Given the description of an element on the screen output the (x, y) to click on. 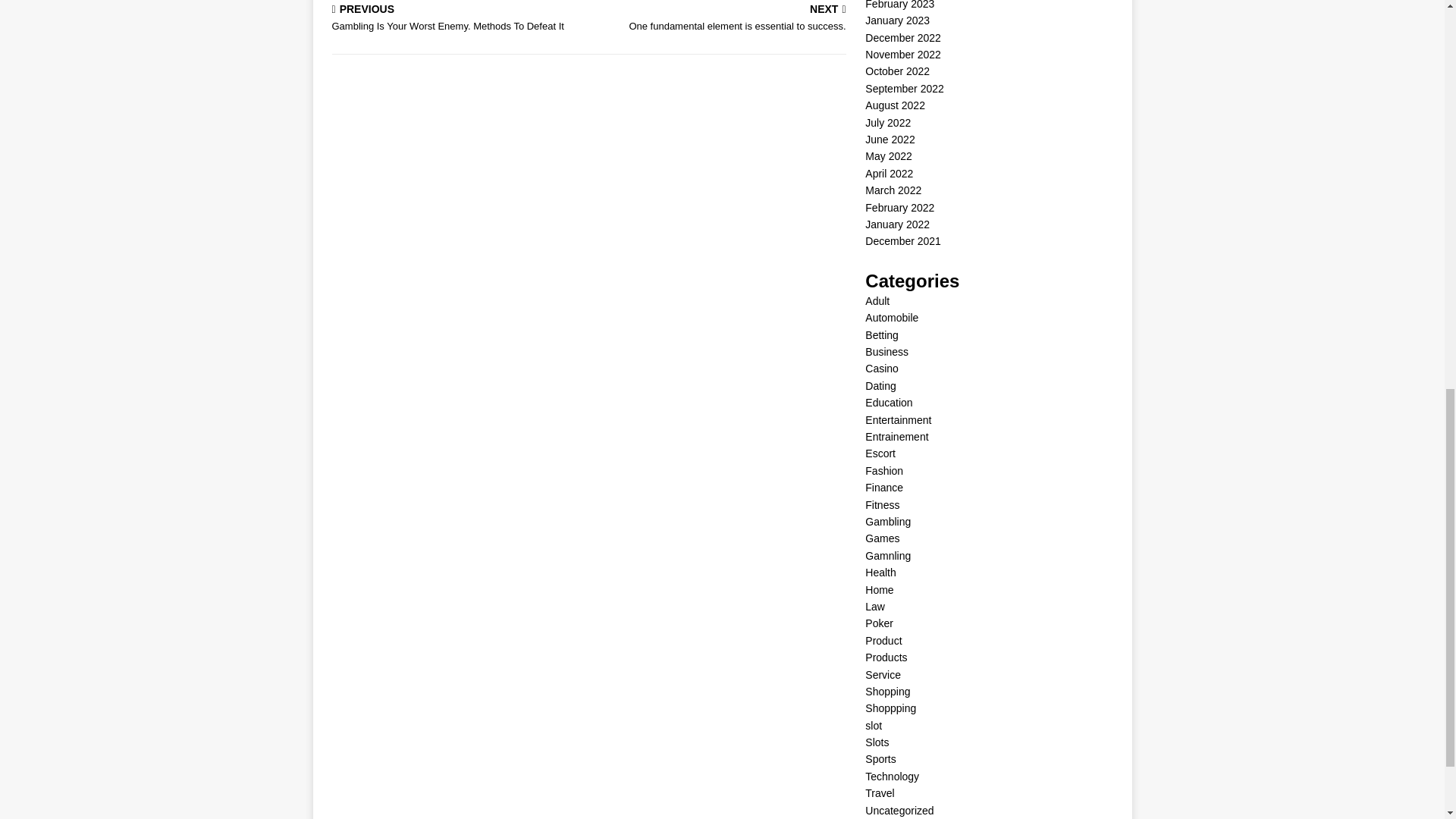
October 2022 (897, 70)
February 2023 (899, 4)
November 2022 (457, 19)
January 2023 (902, 54)
December 2022 (897, 20)
